Given the description of an element on the screen output the (x, y) to click on. 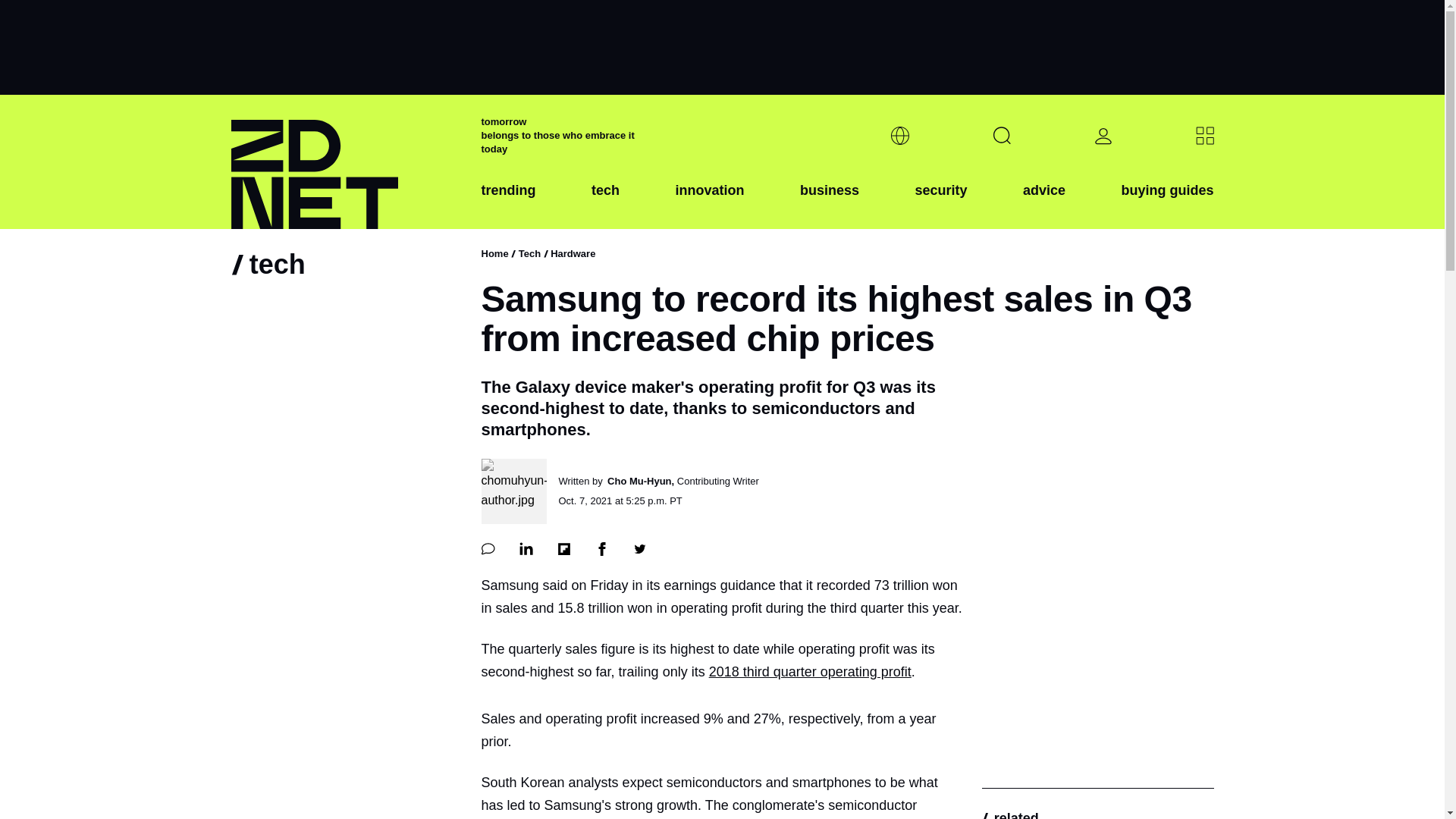
trending (507, 202)
ZDNET (346, 162)
tech (605, 202)
